Given the description of an element on the screen output the (x, y) to click on. 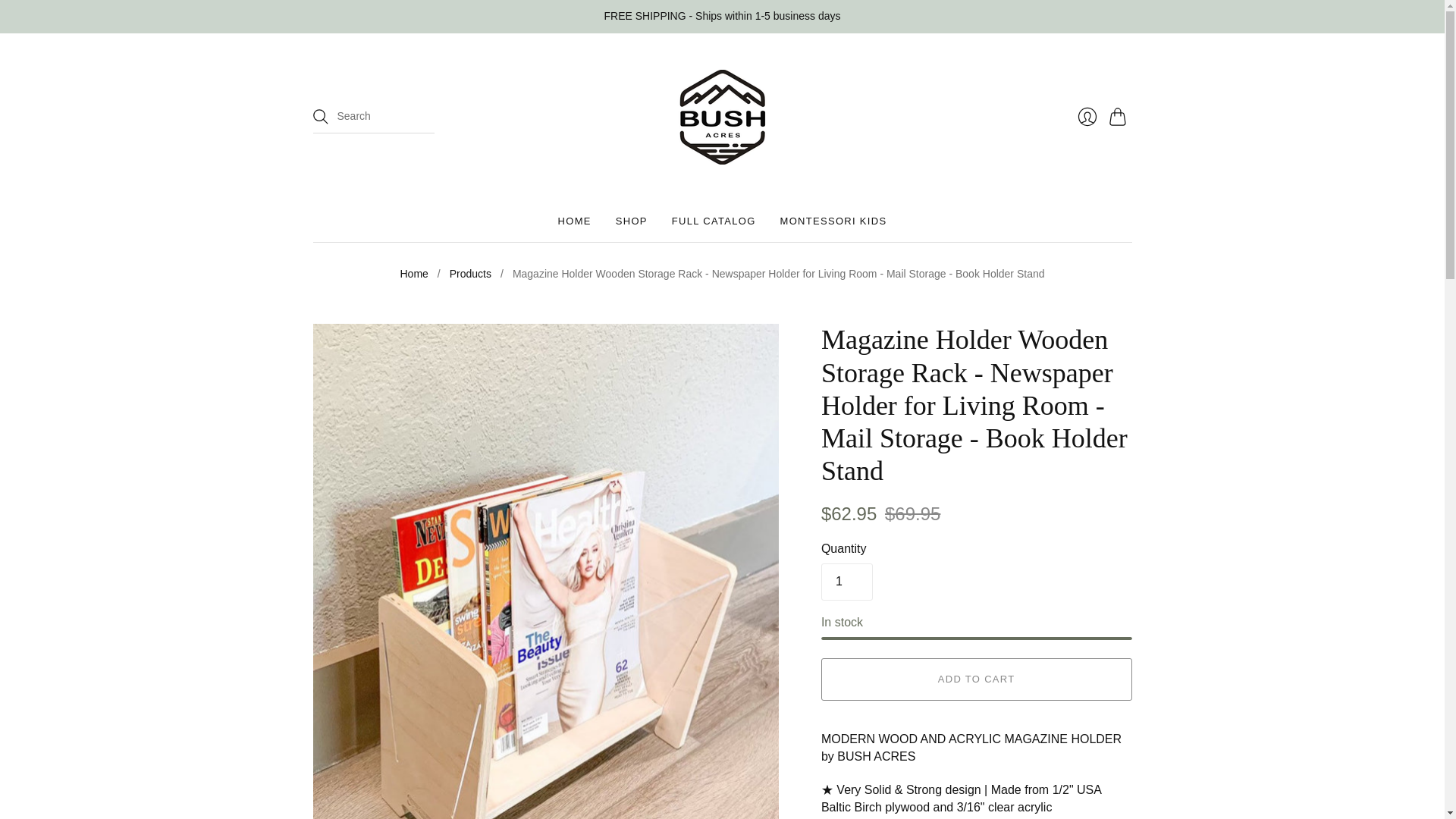
Home (413, 273)
HOME (574, 221)
1 (846, 581)
MONTESSORI KIDS (833, 221)
Products (470, 273)
Login (1086, 116)
SHOP (631, 221)
ADD TO CART (976, 679)
FULL CATALOG (713, 221)
Cart (1119, 116)
